Given the description of an element on the screen output the (x, y) to click on. 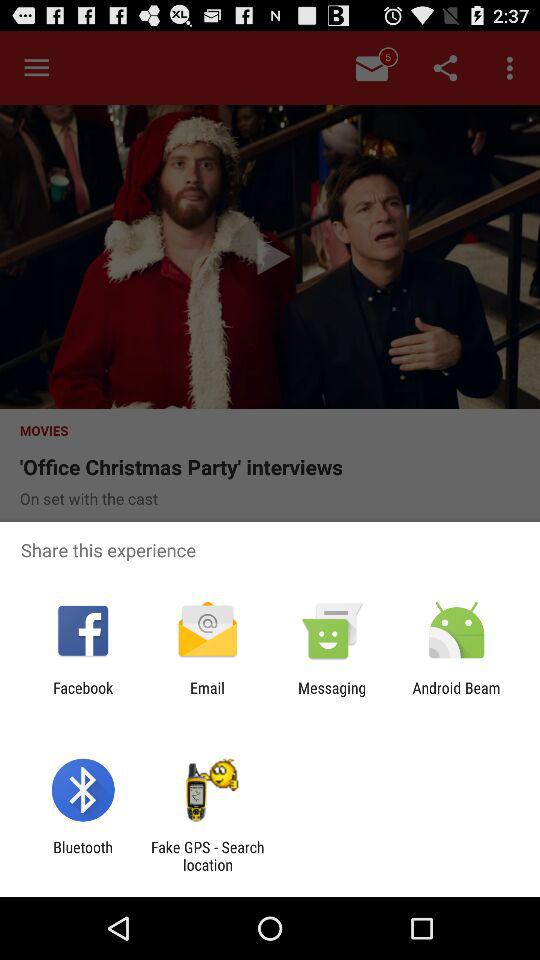
click item to the right of the messaging icon (456, 696)
